Given the description of an element on the screen output the (x, y) to click on. 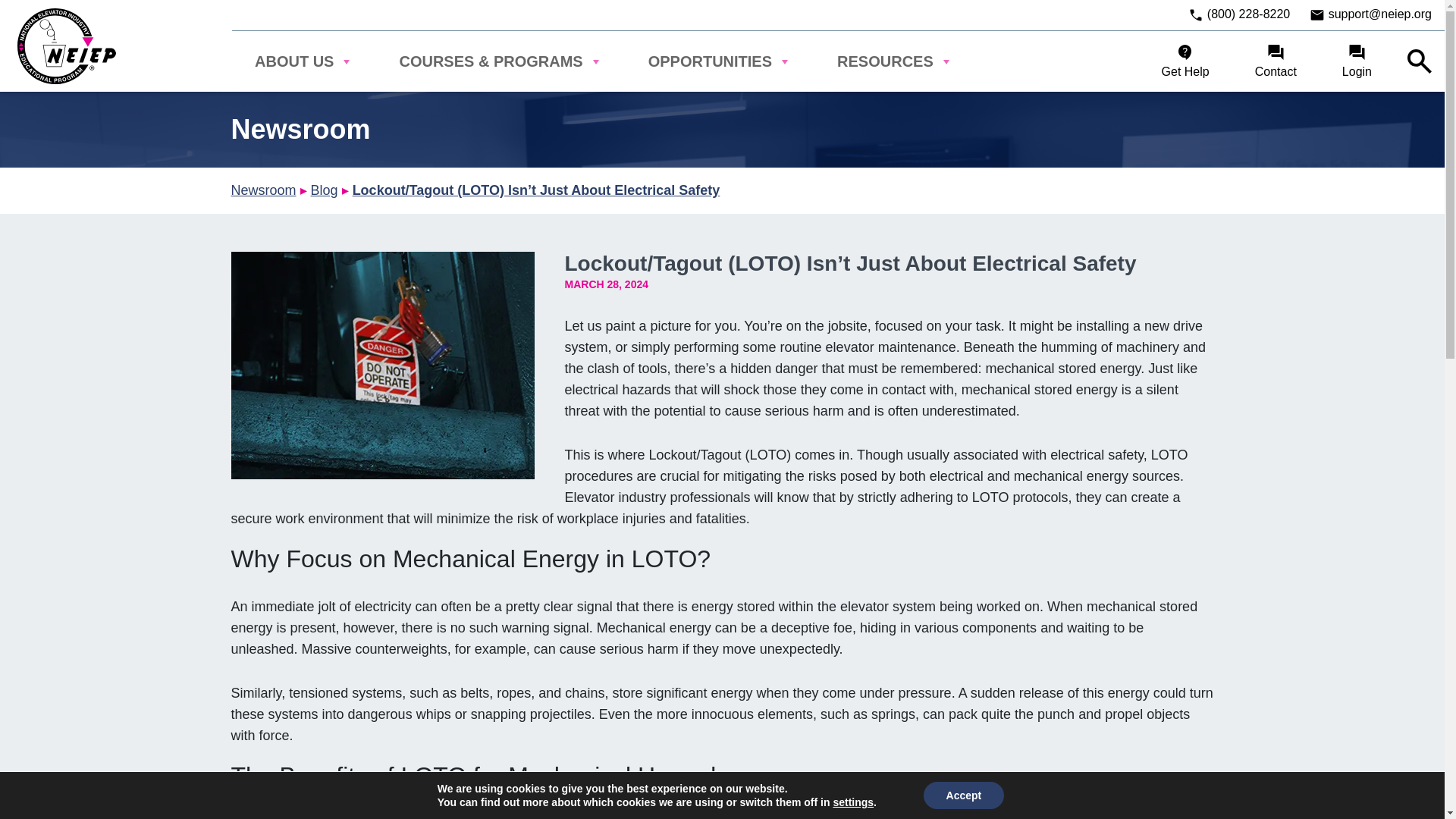
ABOUT US (303, 61)
RESOURCES (894, 61)
OPPORTUNITIES (719, 61)
Get Help (1185, 61)
Contact (1276, 61)
Contact (1276, 61)
Get Help (1185, 61)
